Given the description of an element on the screen output the (x, y) to click on. 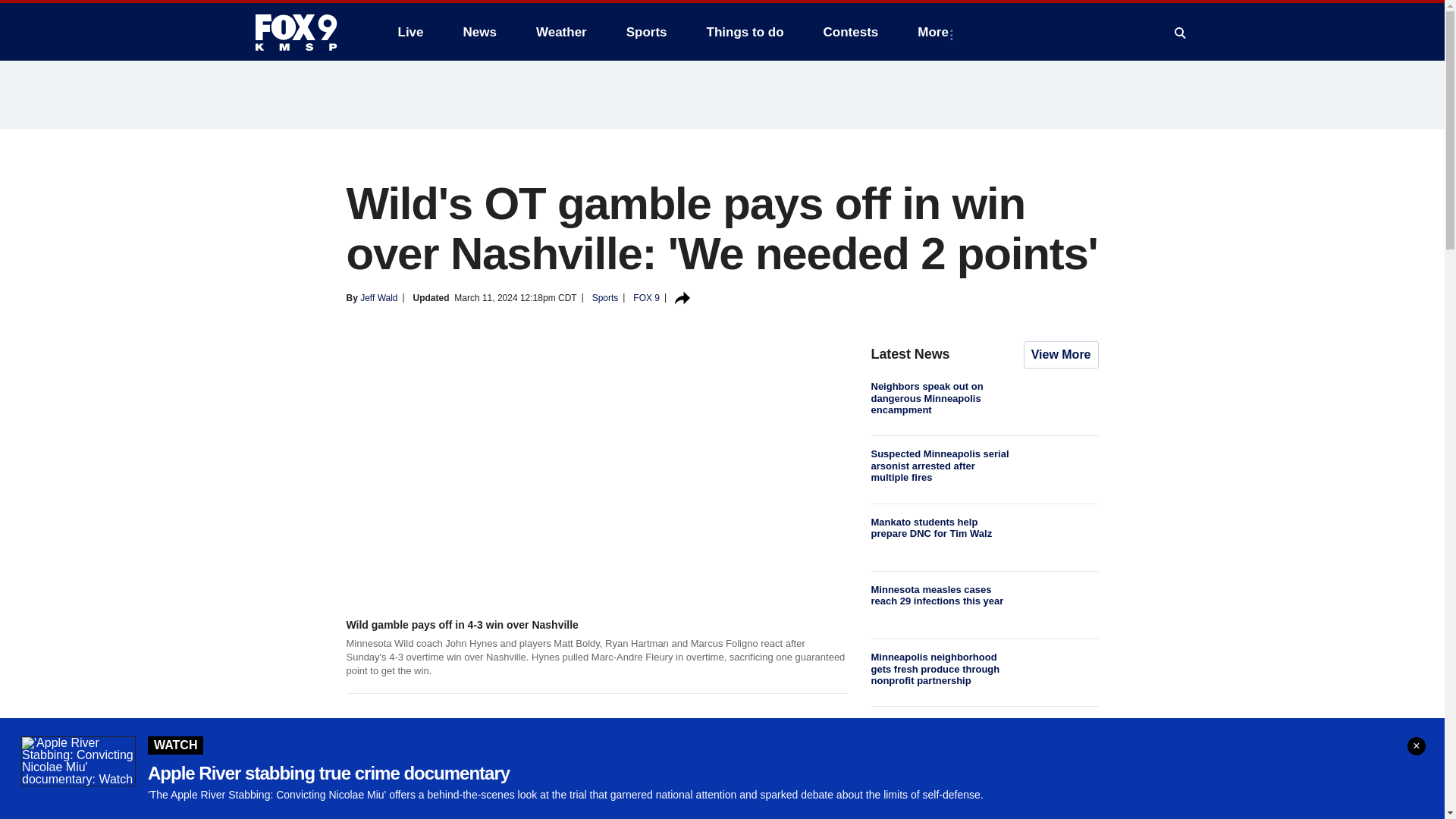
More (935, 32)
Contests (850, 32)
Things to do (745, 32)
News (479, 32)
Weather (561, 32)
Live (410, 32)
Sports (646, 32)
